Given the description of an element on the screen output the (x, y) to click on. 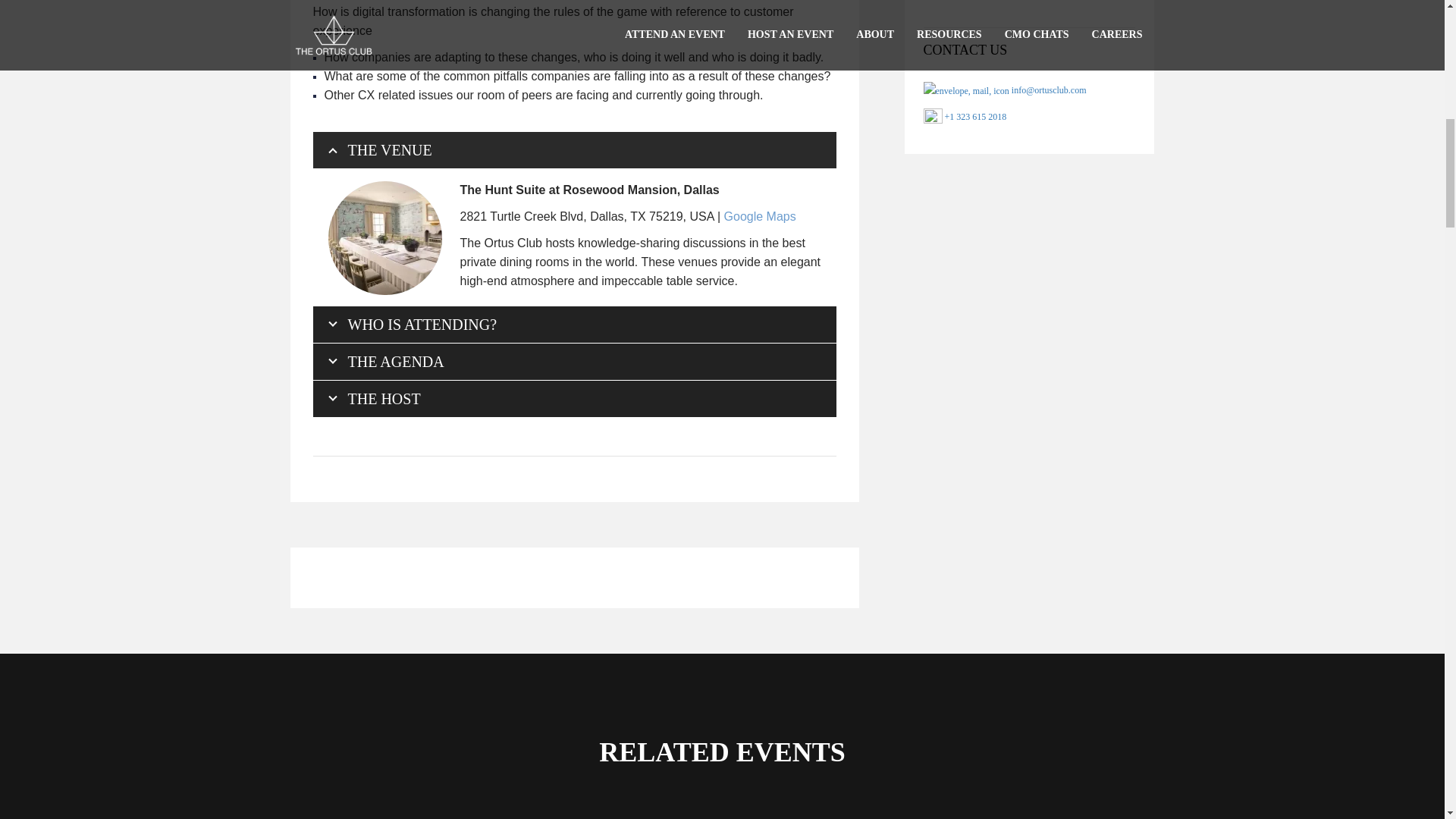
THE HOST (574, 398)
THE VENUE (574, 149)
THE AGENDA (574, 361)
WHO IS ATTENDING? (574, 324)
Google Maps (759, 215)
